Given the description of an element on the screen output the (x, y) to click on. 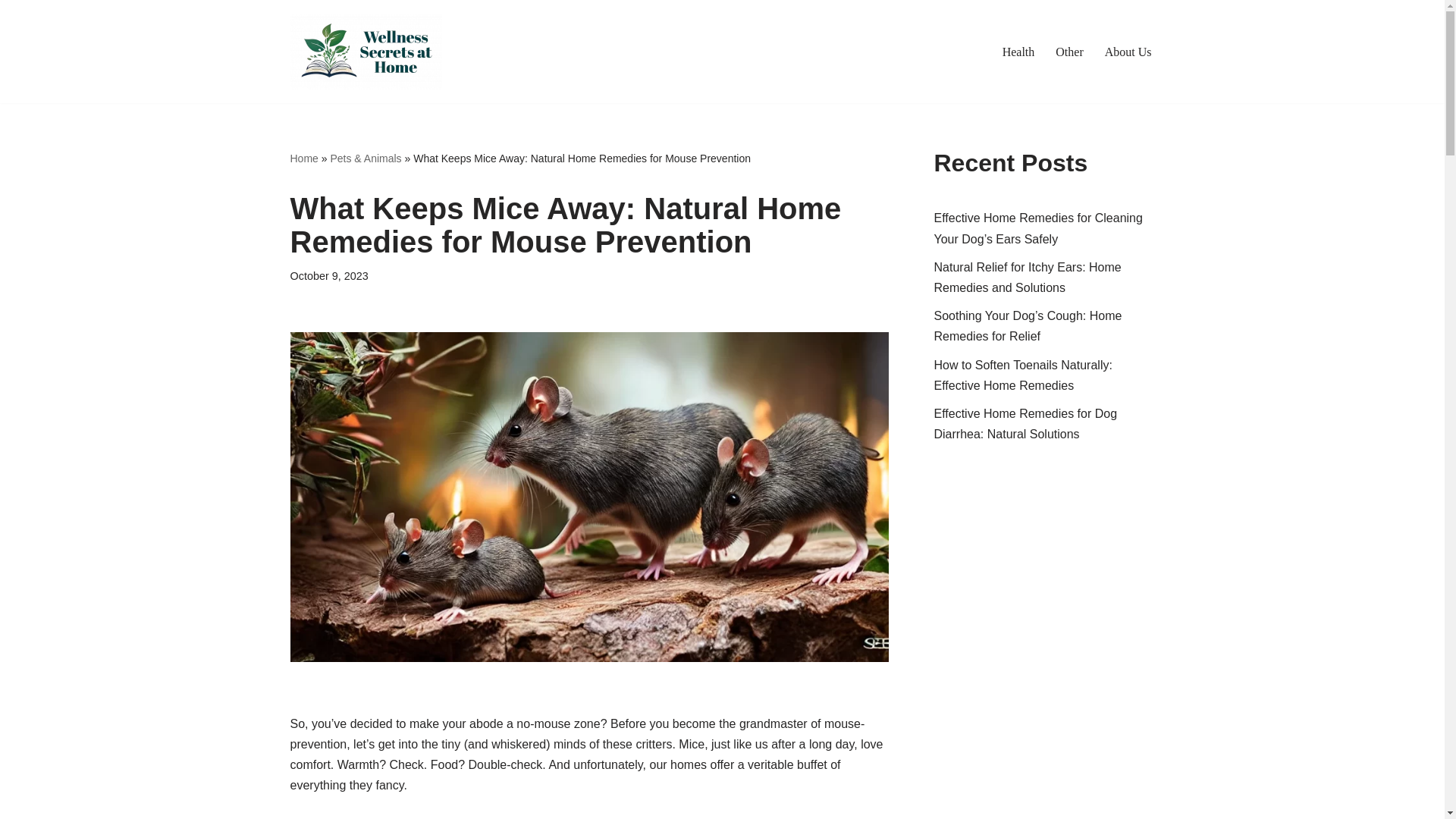
How to Soften Toenails Naturally: Effective Home Remedies (1023, 375)
Other (1069, 51)
Natural Relief for Itchy Ears: Home Remedies and Solutions (1027, 277)
Effective Home Remedies for Dog Diarrhea: Natural Solutions (1026, 423)
Health (1019, 51)
Home (303, 158)
About Us (1128, 51)
Skip to content (11, 31)
